Given the description of an element on the screen output the (x, y) to click on. 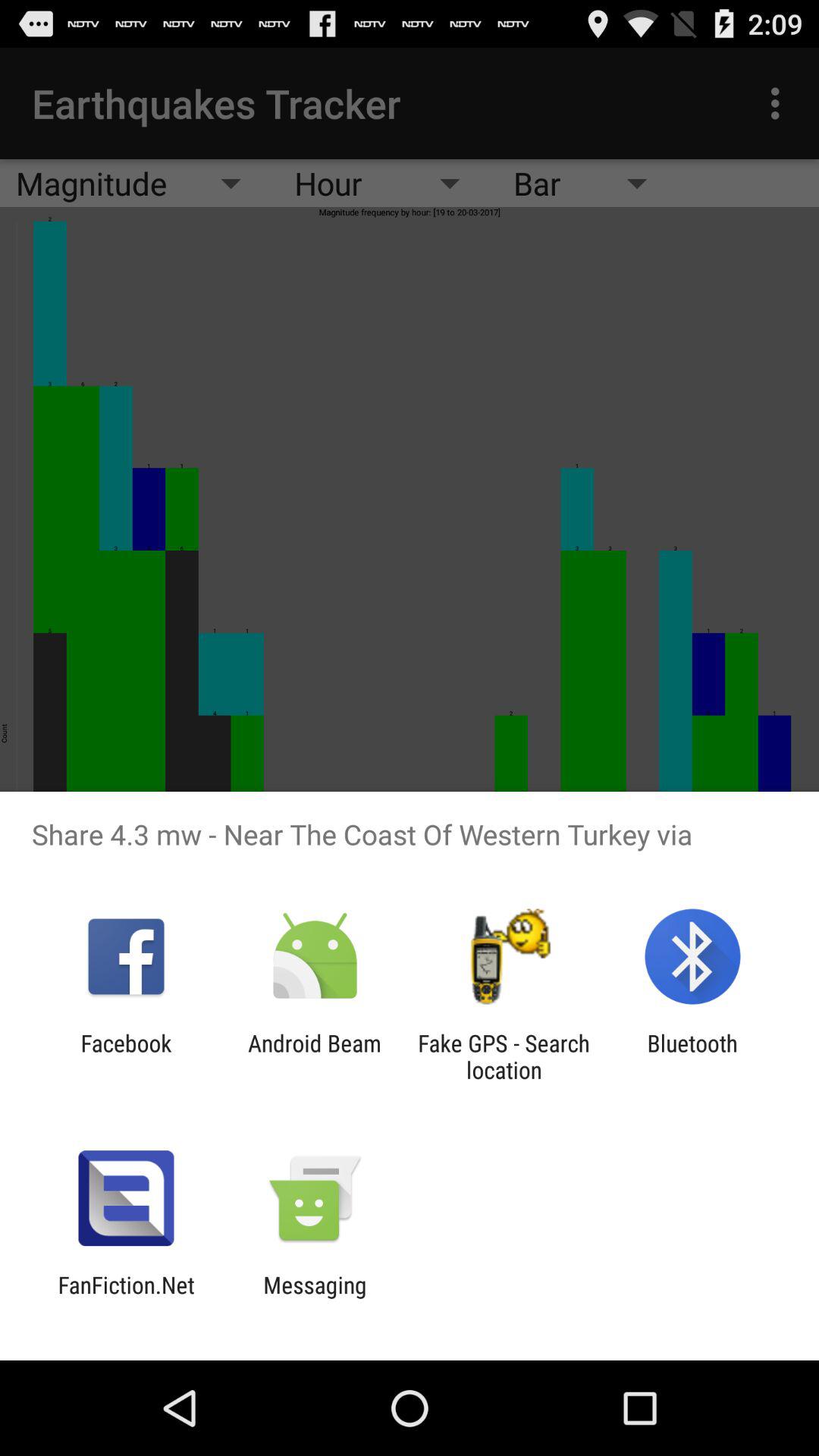
turn off the item to the right of fanfiction.net item (314, 1298)
